Given the description of an element on the screen output the (x, y) to click on. 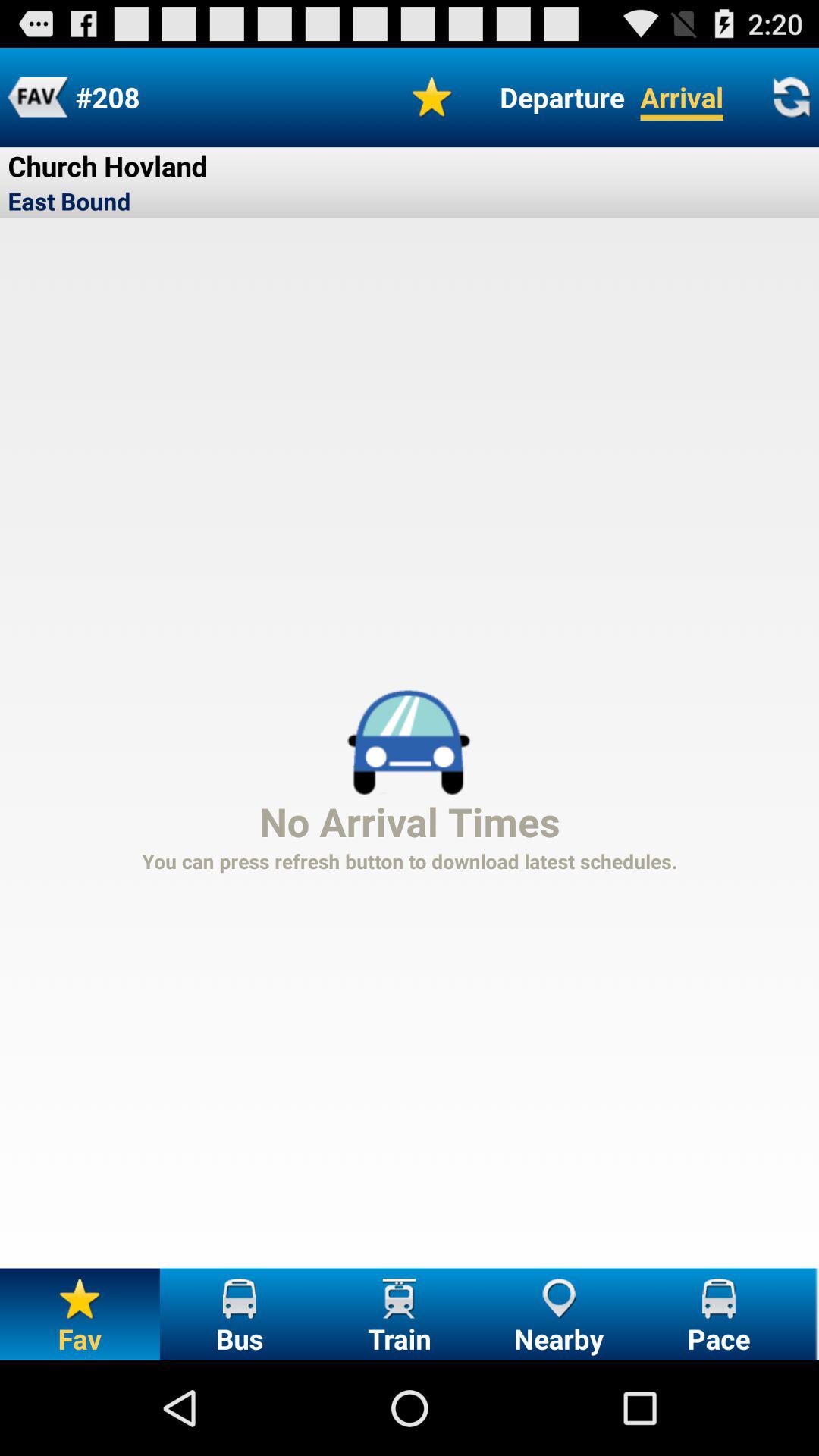
toggle favourite (432, 97)
